Given the description of an element on the screen output the (x, y) to click on. 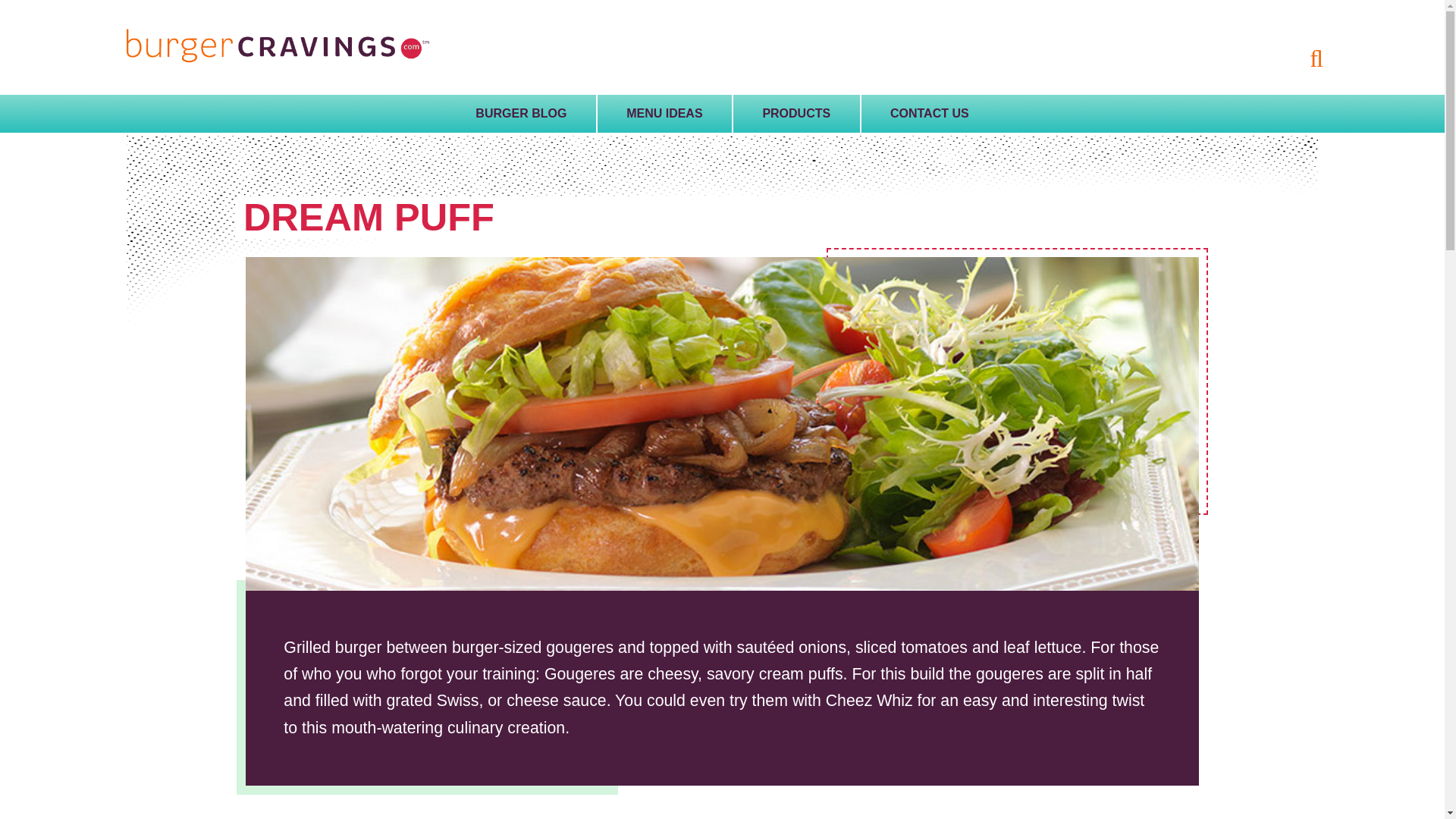
PRODUCTS (796, 113)
MENU IDEAS (664, 113)
BURGER BLOG (520, 113)
CONTACT US (929, 113)
